Given the description of an element on the screen output the (x, y) to click on. 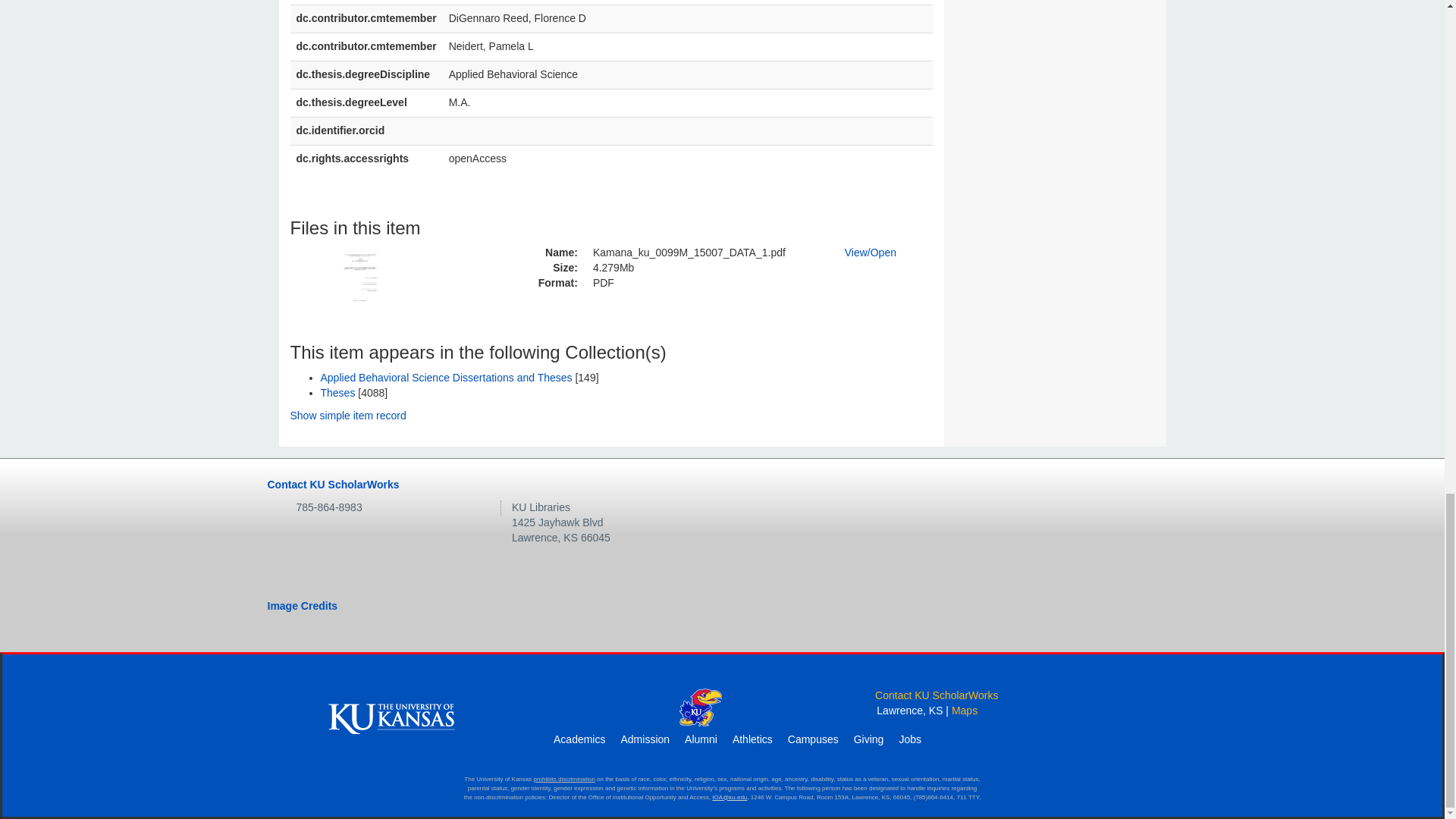
Contact KU ScholarWorks (936, 695)
Contact KU ScholarWorks (936, 695)
Applied Behavioral Science Dissertations and Theses (446, 377)
Theses (337, 392)
Contact KU ScholarWorks (332, 484)
Show simple item record (347, 415)
KU Maps (964, 710)
Image Credits (301, 605)
The University of Kansas (390, 717)
Maps (964, 710)
